Given the description of an element on the screen output the (x, y) to click on. 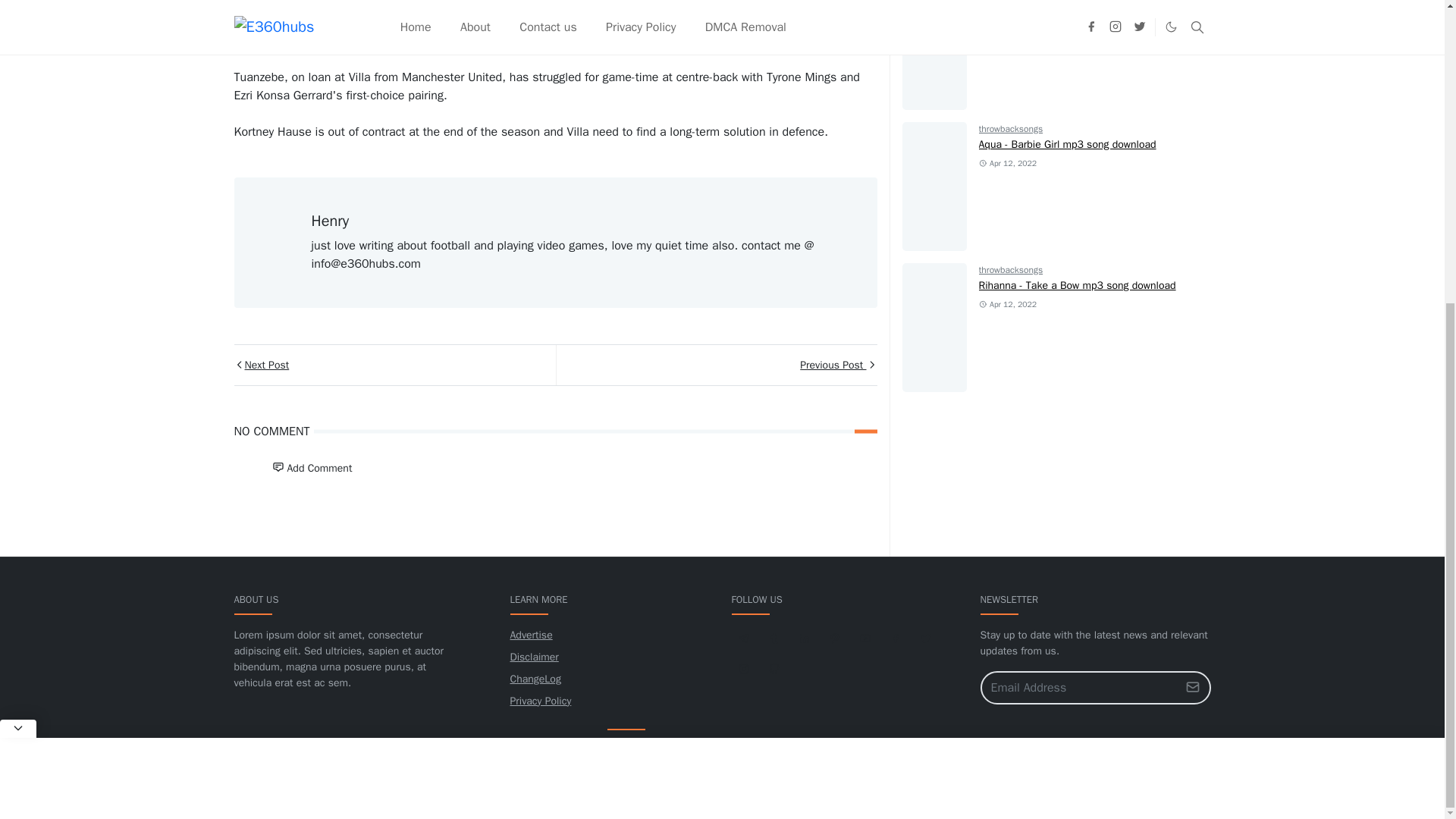
throwbacksongs (1010, 128)
Add Comment (311, 468)
Celine Dion - Falling Into You mp3 song download (1093, 4)
Next Post (393, 364)
Previous Post (715, 364)
Aqua - Barbie Girl mp3 song download (1067, 144)
